Given the description of an element on the screen output the (x, y) to click on. 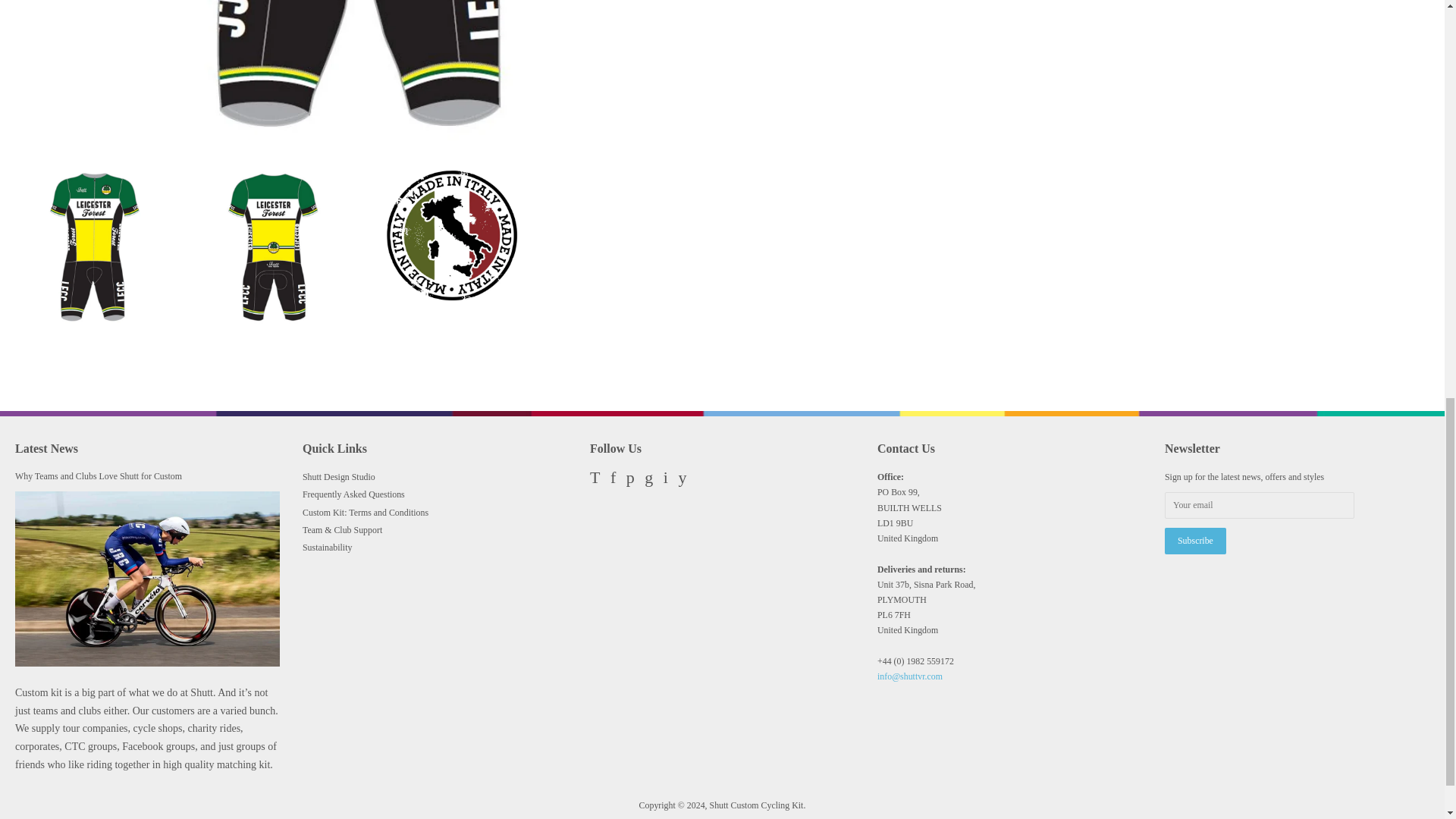
Custom Kit: Terms and Conditions (365, 511)
Shutt Design Studio (338, 476)
Subscribe (1194, 540)
Shutt Custom Cycling Kit on Twitter (594, 480)
Latest News (46, 447)
Why Teams and Clubs Love Shutt for Custom (98, 475)
Frequently Asked Questions (353, 493)
